Given the description of an element on the screen output the (x, y) to click on. 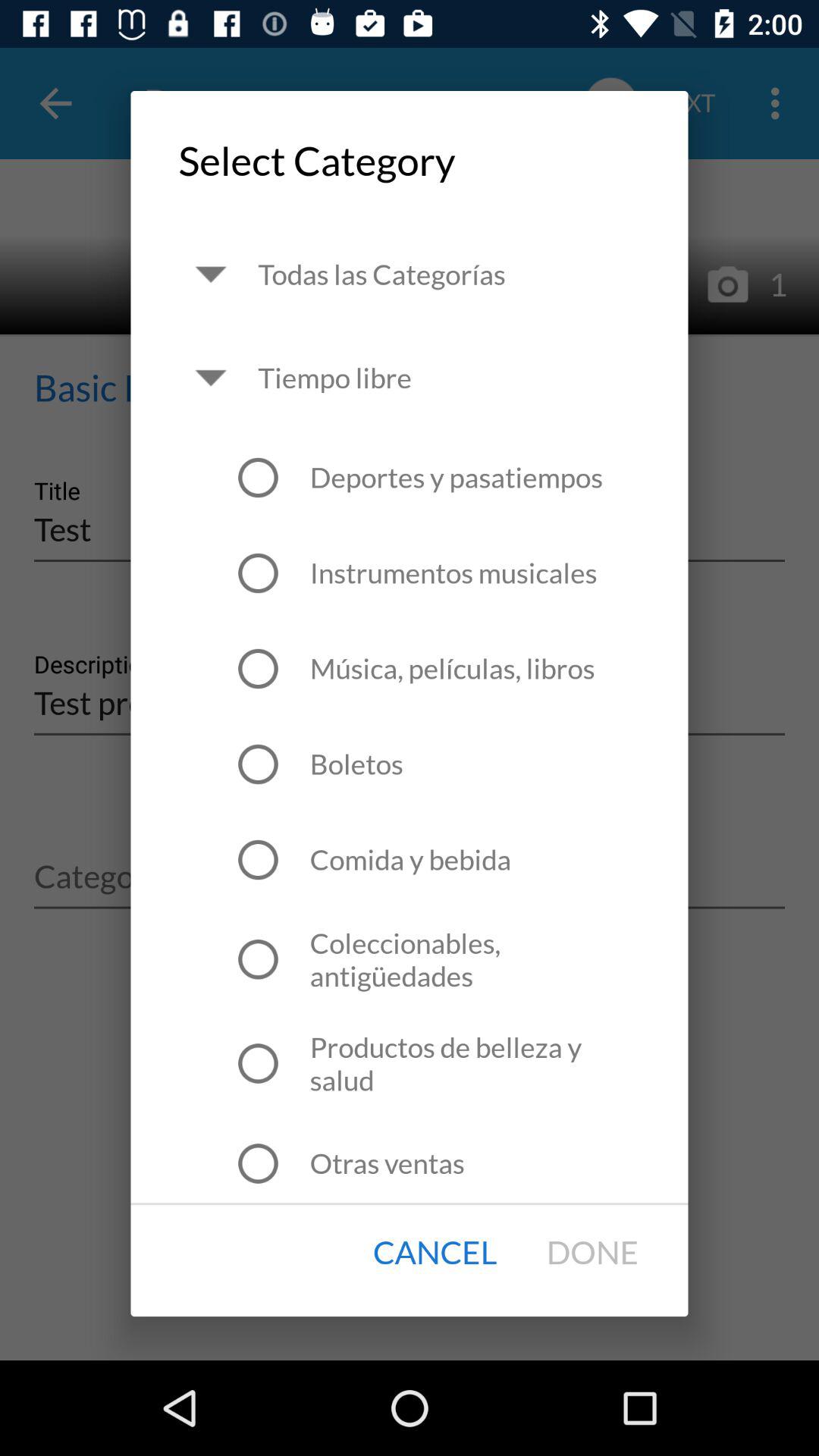
jump until the otras ventas icon (386, 1163)
